Given the description of an element on the screen output the (x, y) to click on. 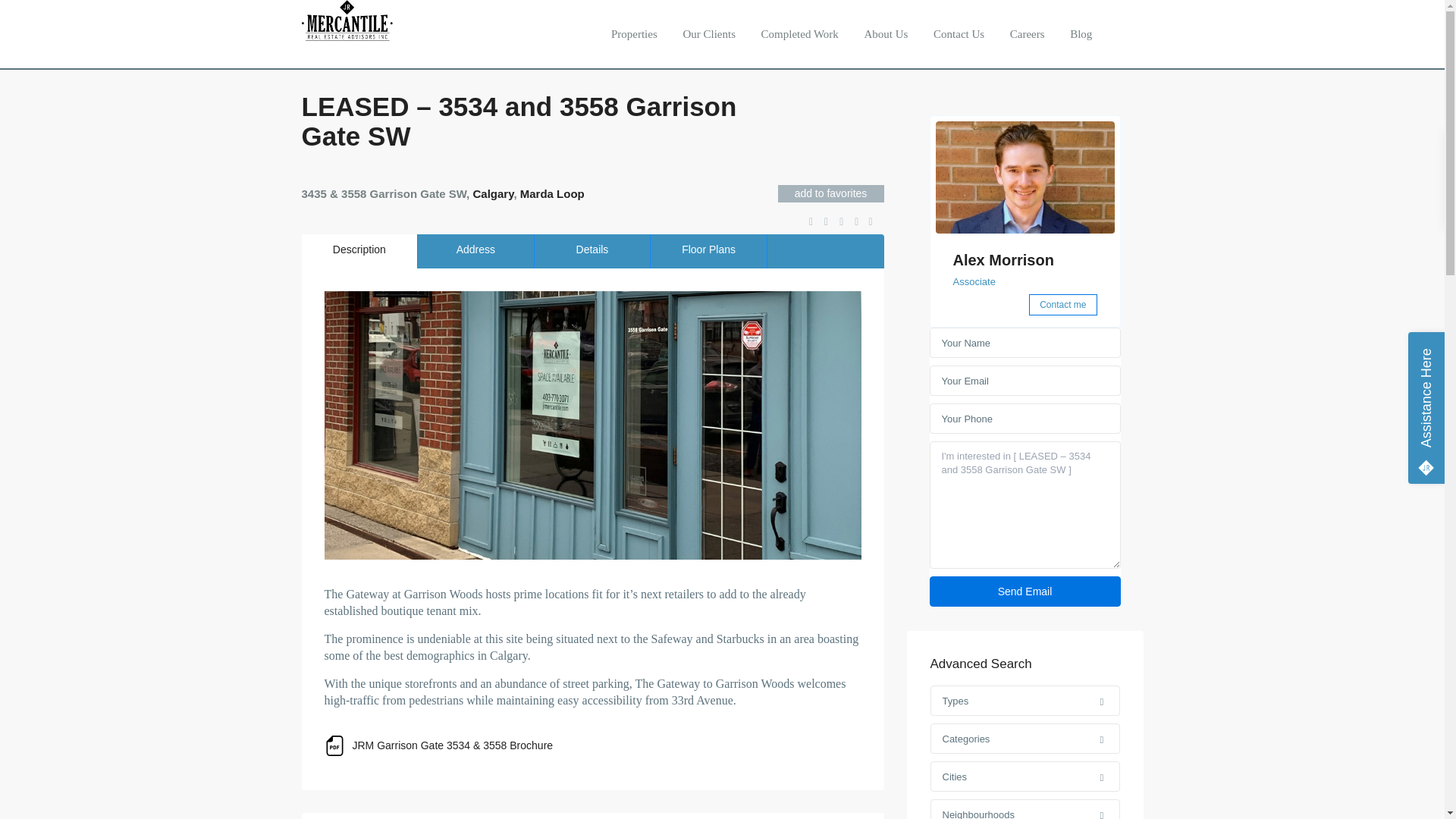
Properties (633, 33)
Completed Work (799, 33)
Send Email (1025, 591)
Our Clients (708, 33)
